Given the description of an element on the screen output the (x, y) to click on. 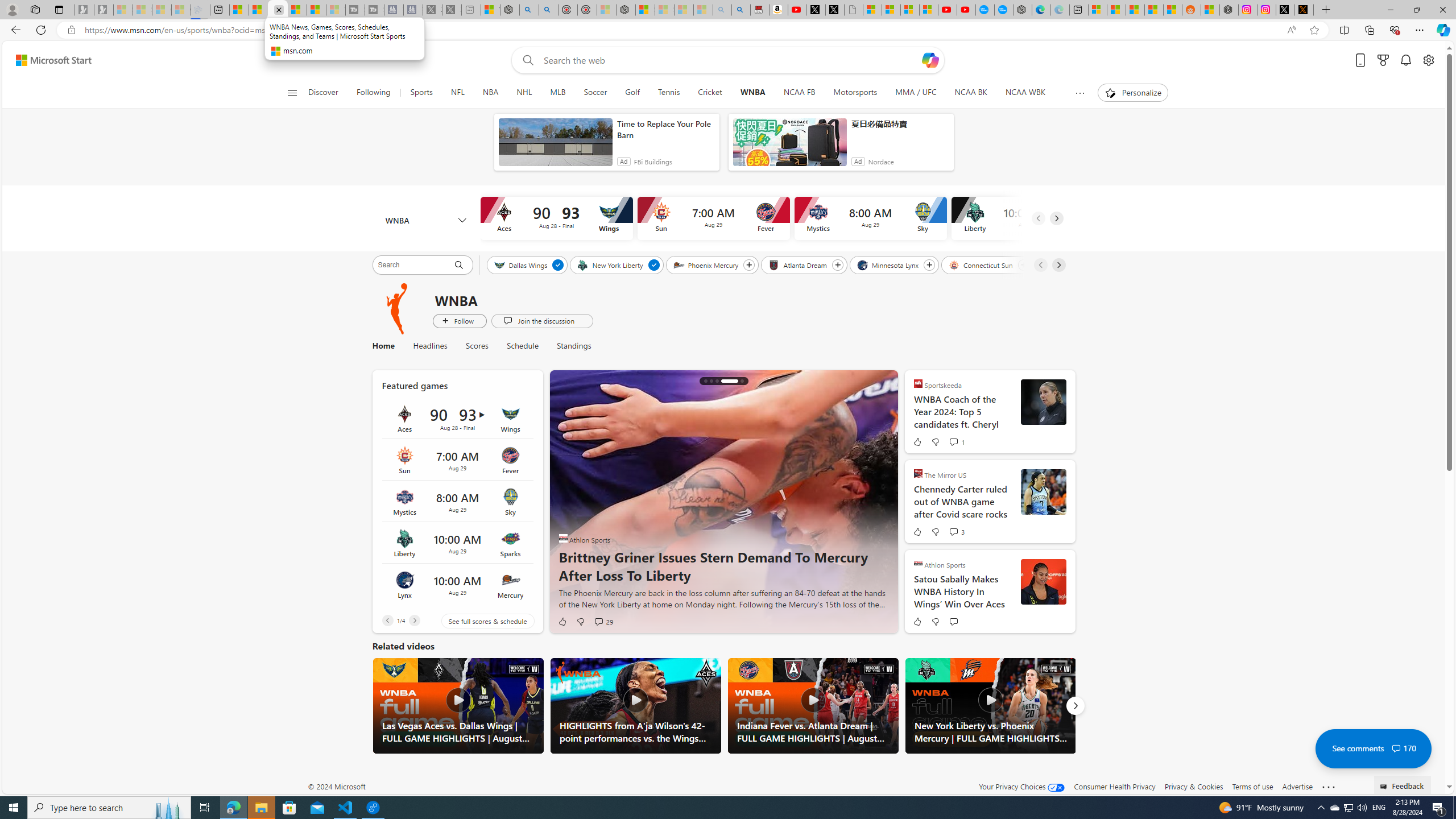
NCAA BK (969, 92)
Day 1: Arriving in Yemen (surreal to be here) - YouTube (796, 9)
Class: cwt-icon-vector (1395, 748)
Scores (477, 345)
Mystics vs Sky Time 8:00 AM Date Aug 29 (456, 501)
View comments 3 Comment (953, 531)
Enter your search term (730, 59)
Soccer (595, 92)
Sports (421, 92)
Shanghai, China Weather trends | Microsoft Weather (1172, 9)
